Given the description of an element on the screen output the (x, y) to click on. 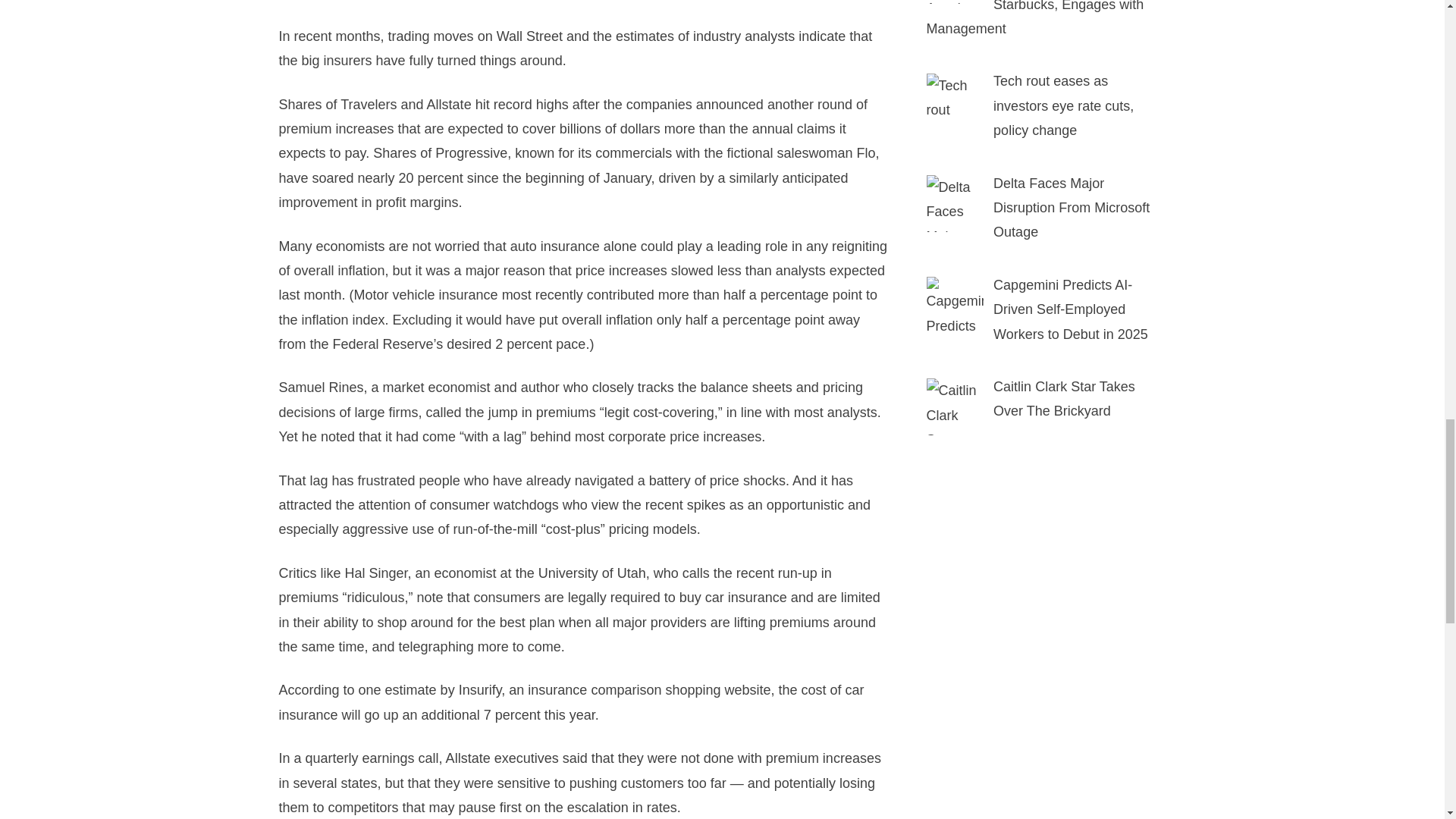
Delta Faces Major Disruption From Microsoft Outage (955, 203)
Delta Faces Major Disruption From Microsoft Outage (1071, 208)
Tech rout eases as investors eye rate cuts, policy change (955, 101)
Caitlin Clark Star Takes Over The Brickyard (1063, 398)
Tech rout eases as investors eye rate cuts, policy change (1063, 105)
